Given the description of an element on the screen output the (x, y) to click on. 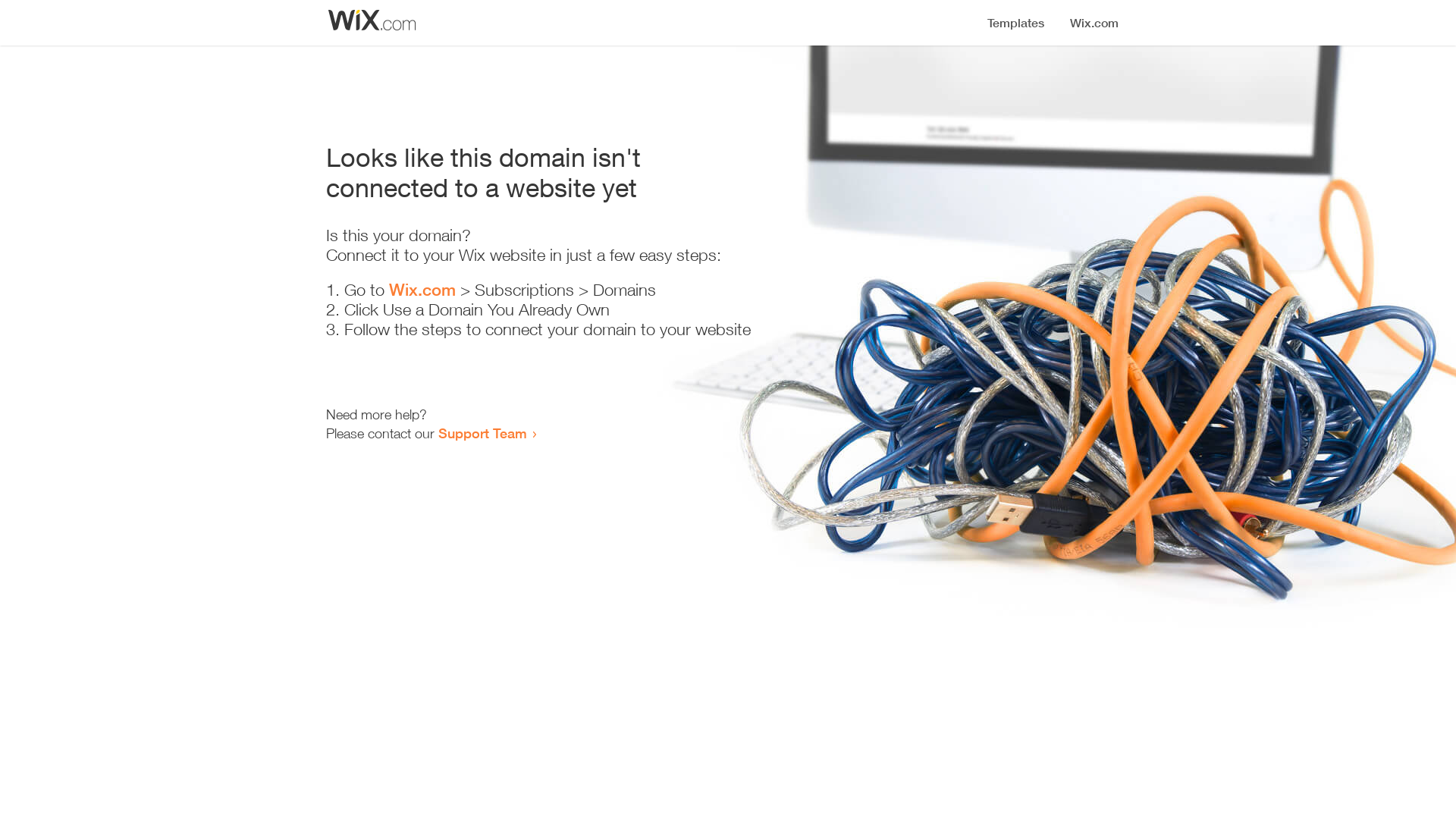
Support Team Element type: text (482, 432)
Wix.com Element type: text (422, 289)
